Given the description of an element on the screen output the (x, y) to click on. 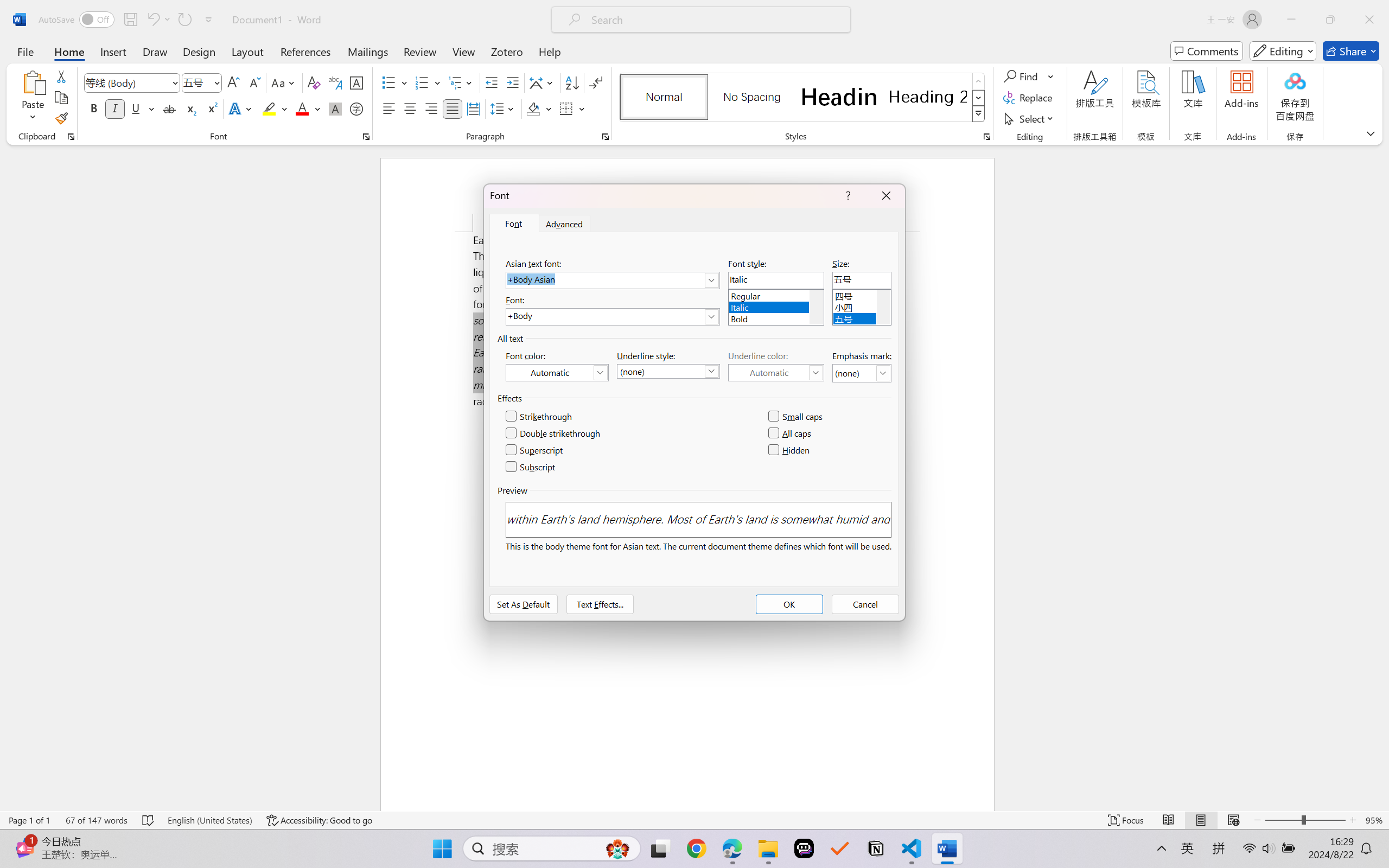
Sort... (571, 82)
RichEdit Control (861, 280)
Notion (875, 848)
Decrease Indent (491, 82)
Emphasis mark: (861, 372)
Google Chrome (696, 848)
Distributed (473, 108)
